Given the description of an element on the screen output the (x, y) to click on. 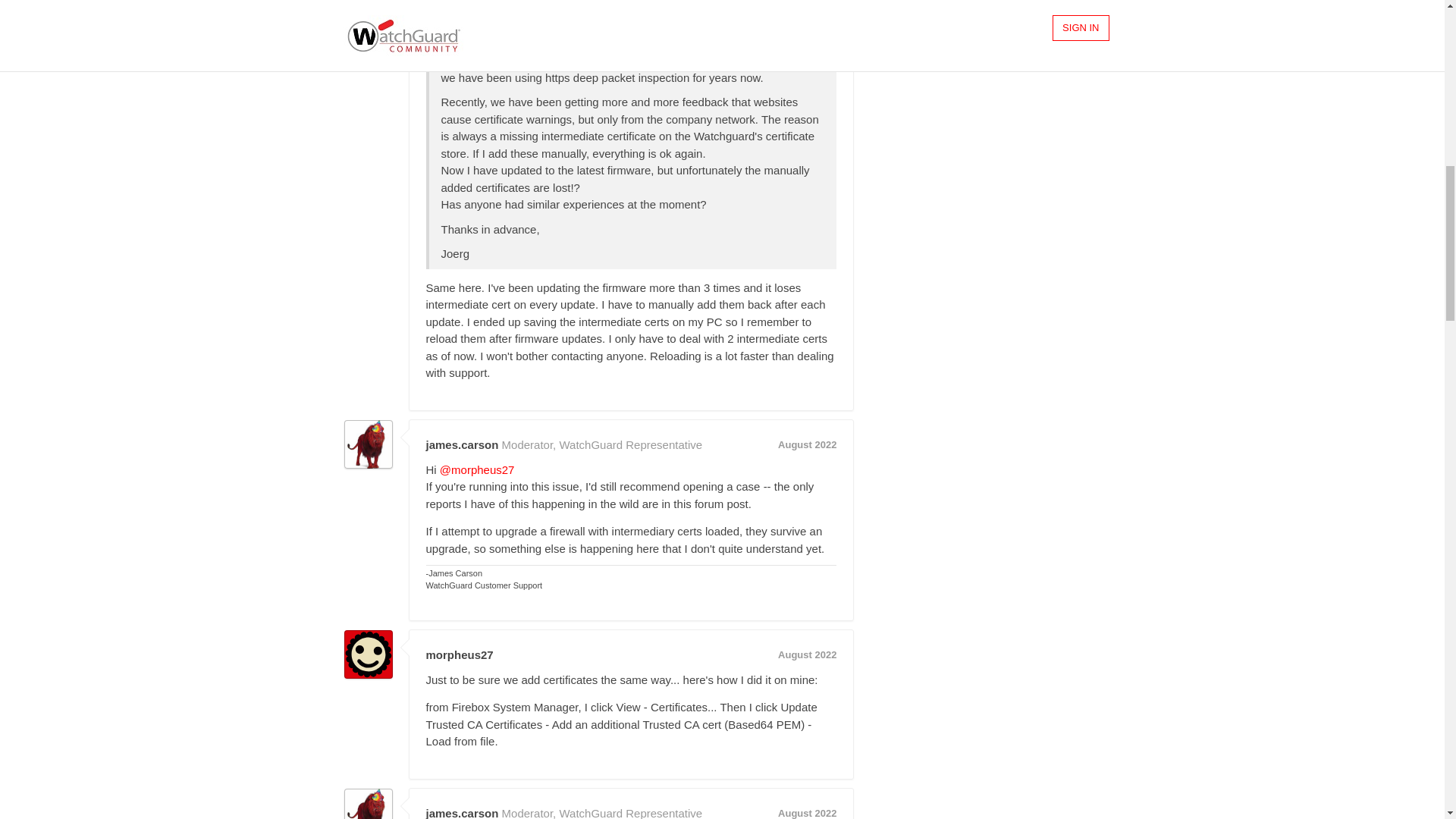
james.carson (368, 444)
August 25, 2022 7:22PM (806, 813)
August 24, 2022 4:38PM (806, 4)
morpheus27 (368, 13)
August 24, 2022 5:25PM (806, 444)
james.carson (368, 803)
August 2022 (806, 654)
morpheus27 (459, 654)
August 2022 (806, 444)
August 25, 2022 6:36PM (806, 654)
